Given the description of an element on the screen output the (x, y) to click on. 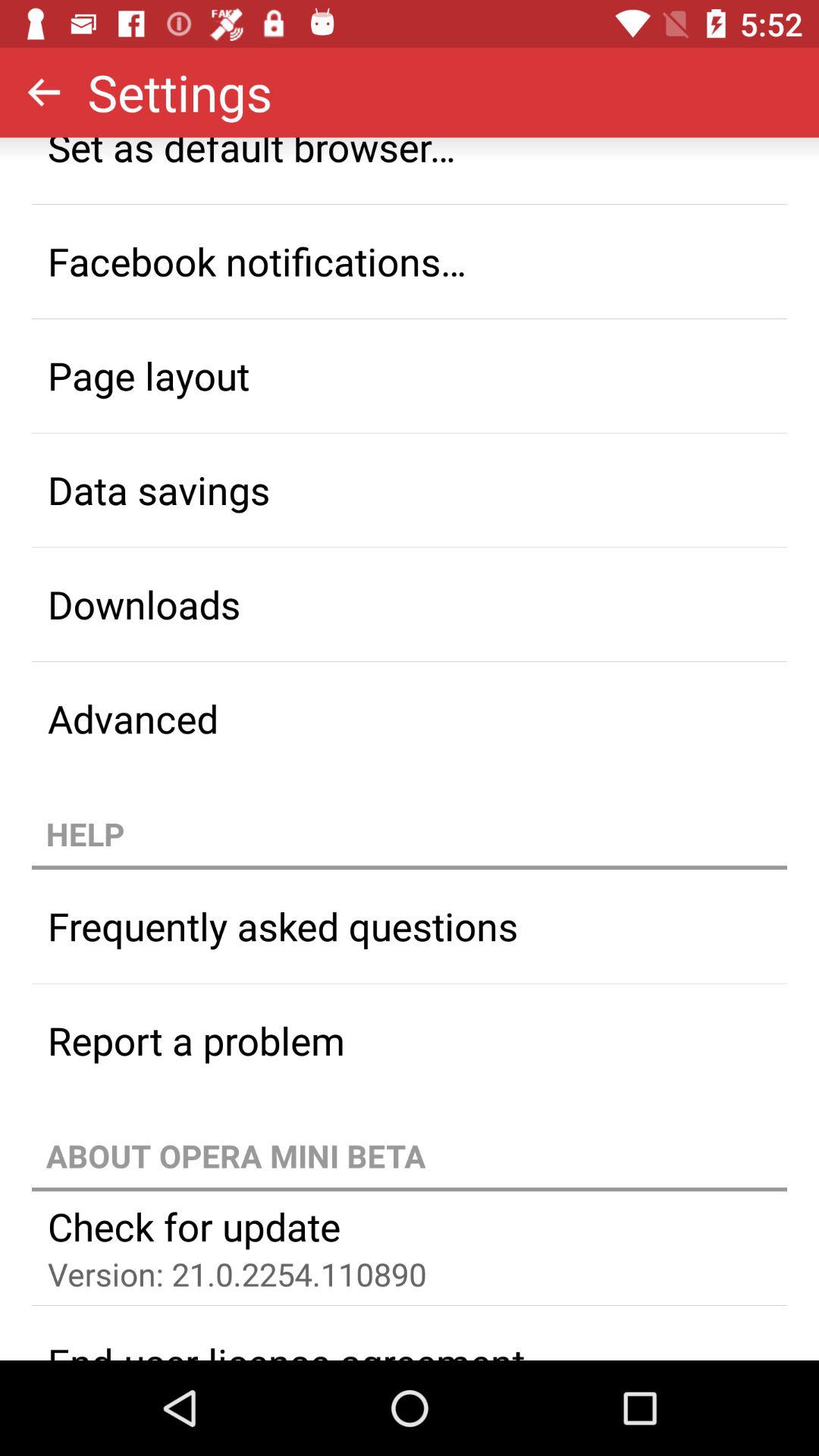
click on downloads (409, 604)
select the button above data savings (409, 375)
